Given the description of an element on the screen output the (x, y) to click on. 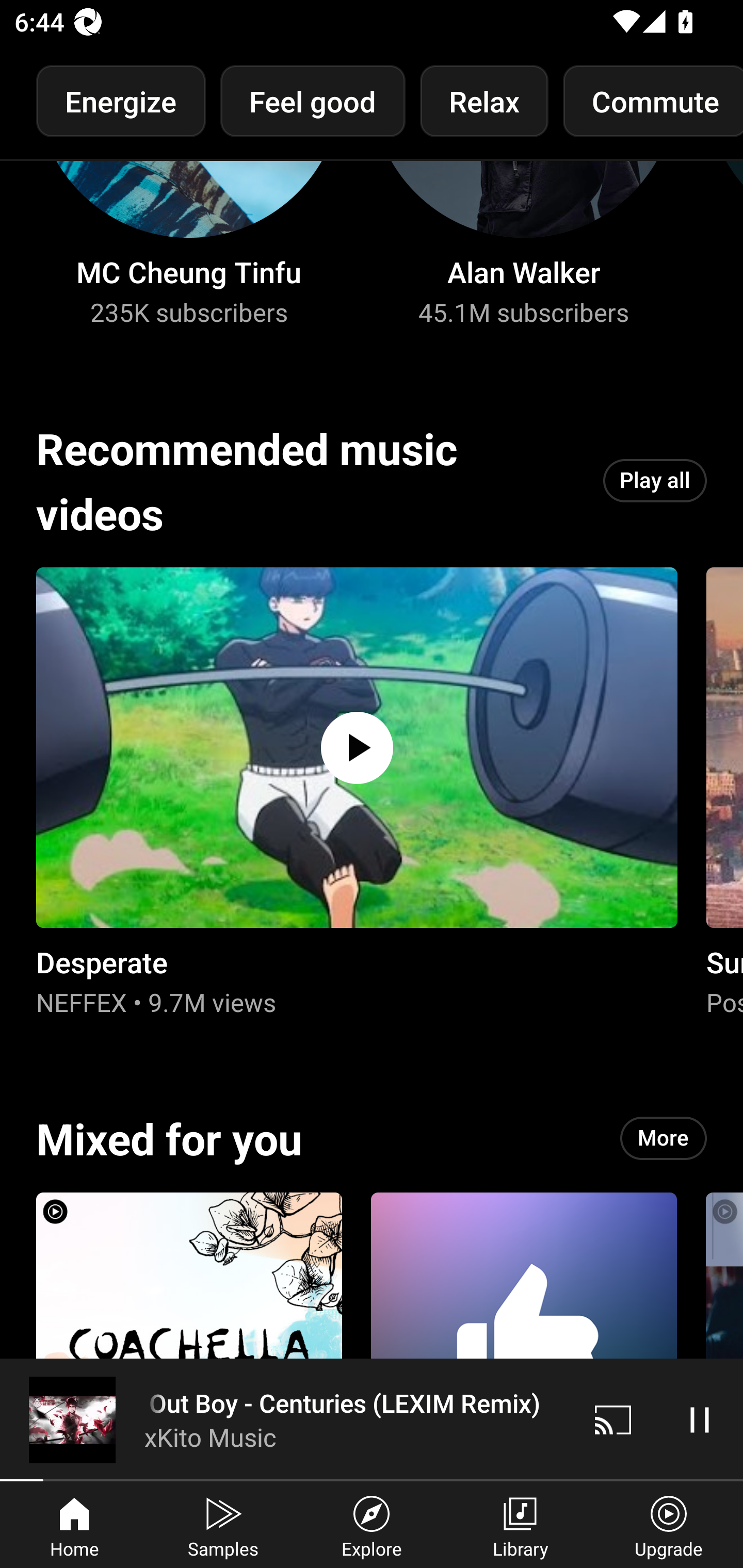
Fall Out Boy - Centuries (LEXIM Remix) xKito Music (284, 1419)
Cast. Disconnected (612, 1419)
Pause video (699, 1419)
Home (74, 1524)
Samples (222, 1524)
Explore (371, 1524)
Library (519, 1524)
Upgrade (668, 1524)
